Given the description of an element on the screen output the (x, y) to click on. 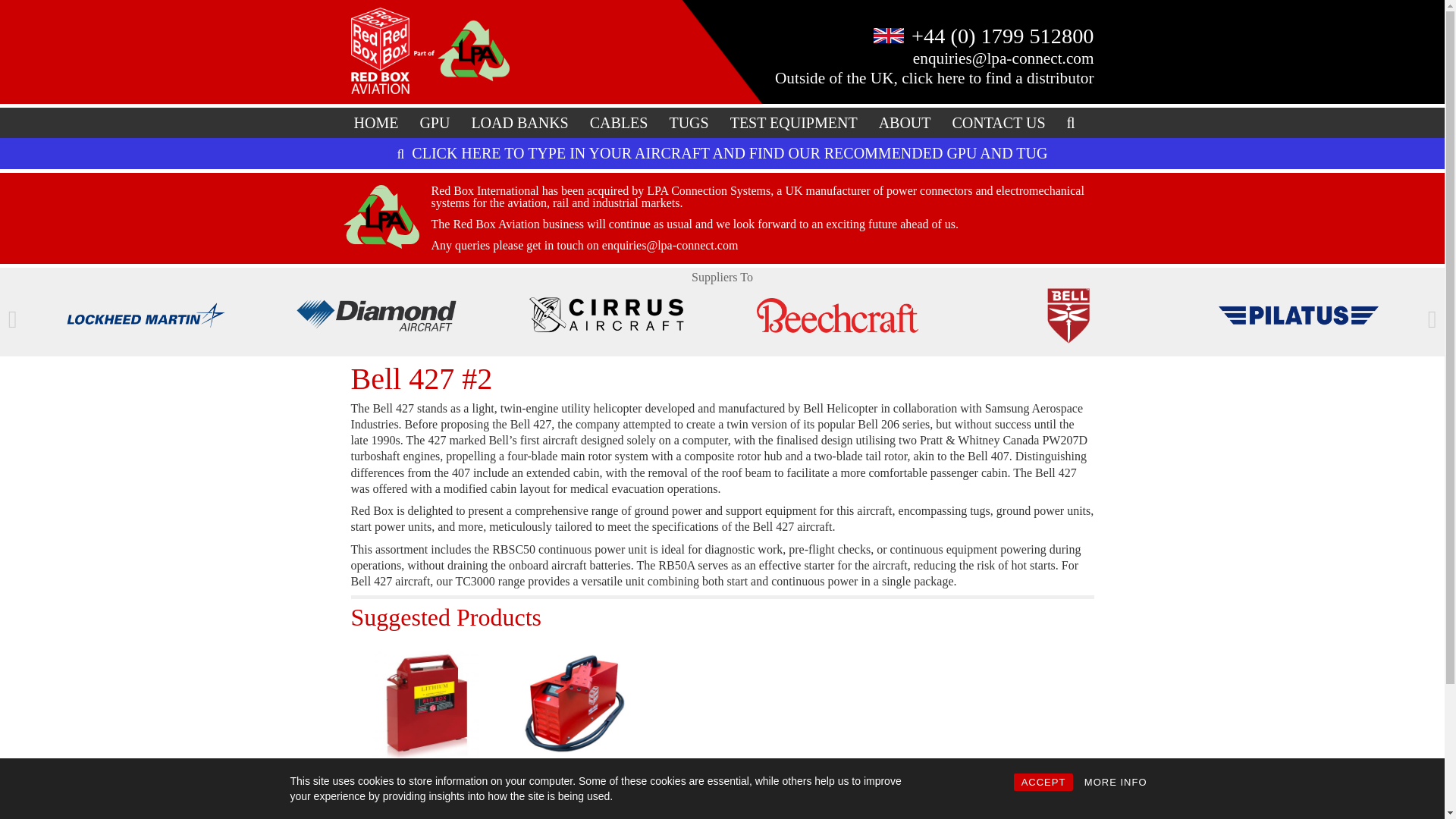
MORE INFO (1115, 782)
CABLES (619, 122)
UK (888, 35)
Outside of the UK, click here to find a distributor (933, 77)
HOME (375, 122)
GPU (434, 122)
LOAD BANKS (519, 122)
ACCEPT (1043, 782)
RBL4000 1500A peak at 28v (424, 704)
